Given the description of an element on the screen output the (x, y) to click on. 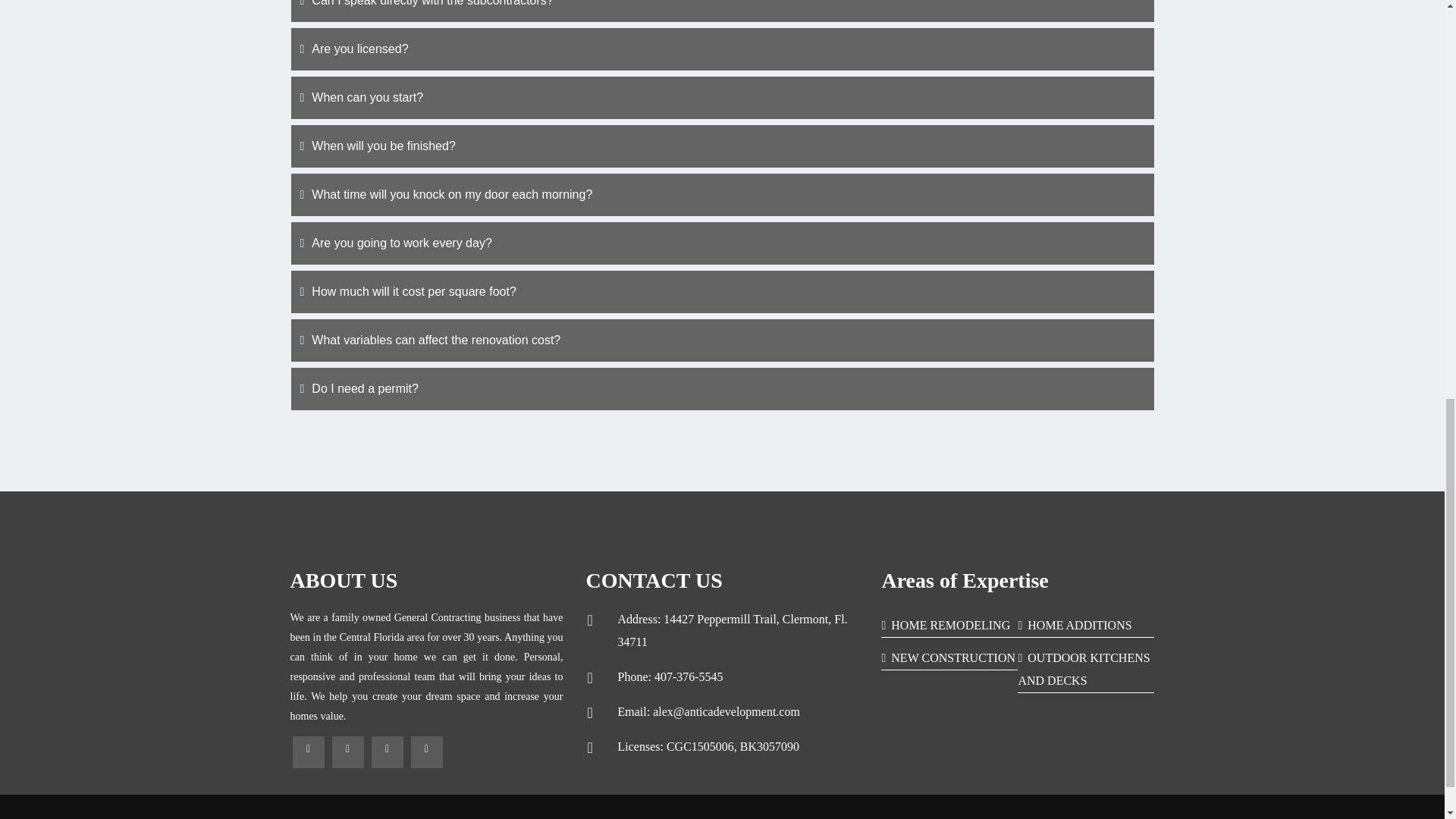
HOME REMODELING (945, 625)
Can I speak directly with the subcontractors? (721, 6)
What variables can affect the renovation cost? (721, 340)
Are you licensed? (721, 48)
When will you be finished? (721, 146)
HOME ADDITIONS (1074, 625)
What time will you knock on my door each morning? (721, 194)
NEW CONSTRUCTION (947, 657)
When can you start? (721, 97)
OUTDOOR KITCHENS AND DECKS (1083, 669)
